Given the description of an element on the screen output the (x, y) to click on. 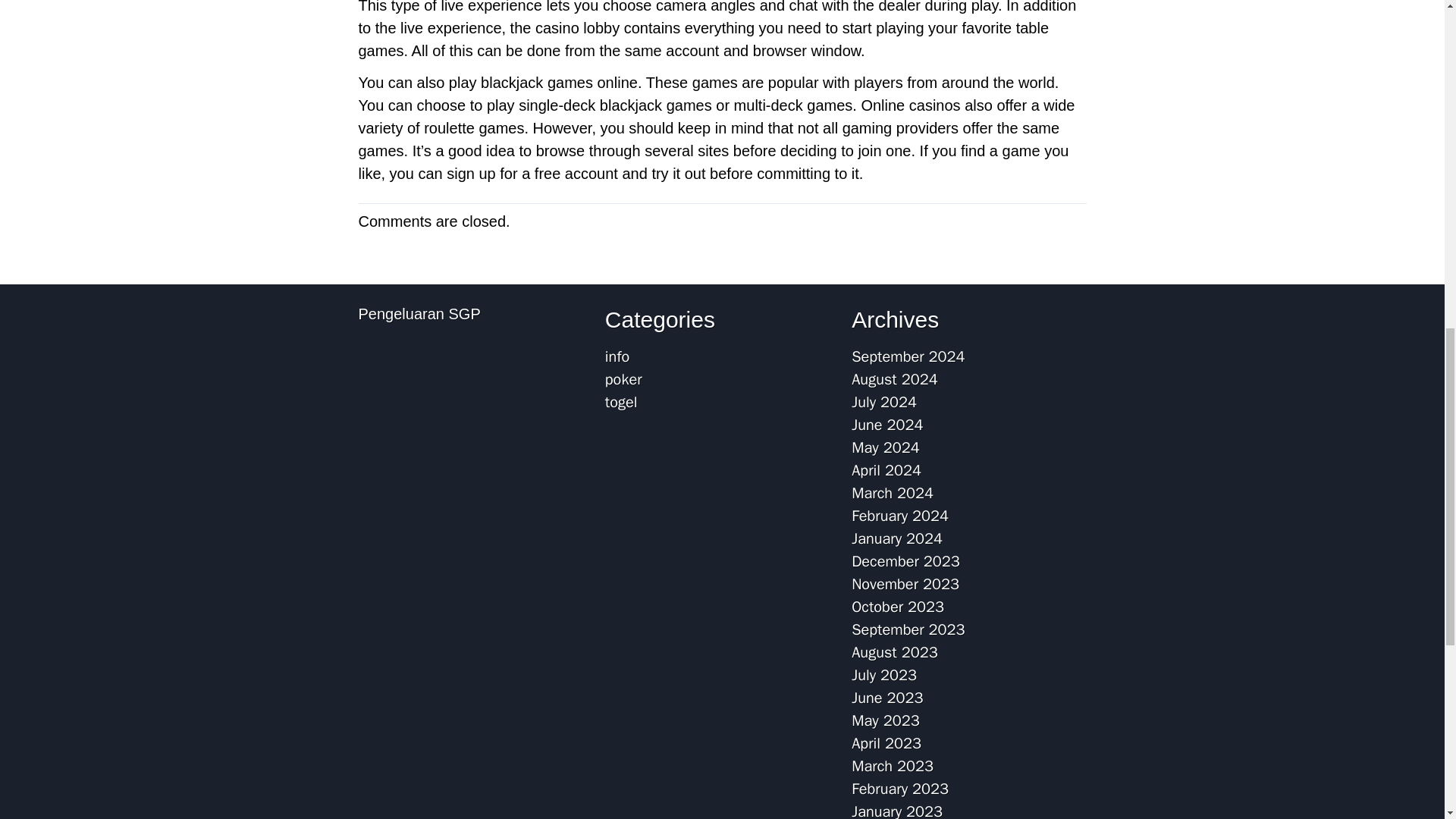
January 2024 (896, 538)
September 2023 (907, 629)
April 2023 (886, 742)
February 2023 (900, 788)
December 2023 (905, 561)
October 2023 (897, 606)
Pengeluaran SGP (419, 313)
June 2023 (887, 697)
February 2024 (900, 515)
April 2024 (886, 470)
